Given the description of an element on the screen output the (x, y) to click on. 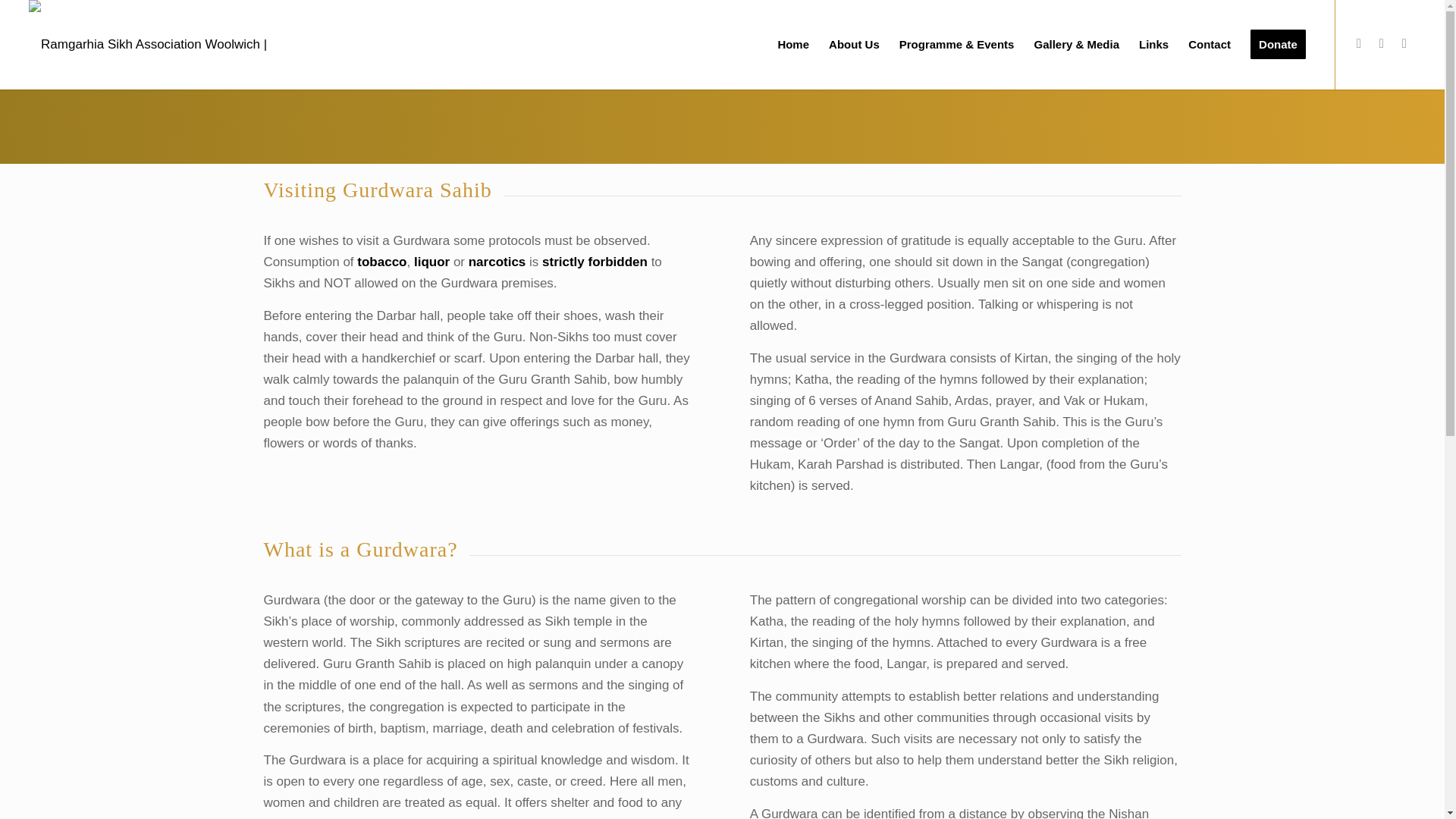
Instagram (1381, 43)
Youtube (1404, 43)
Facebook (1359, 43)
